Given the description of an element on the screen output the (x, y) to click on. 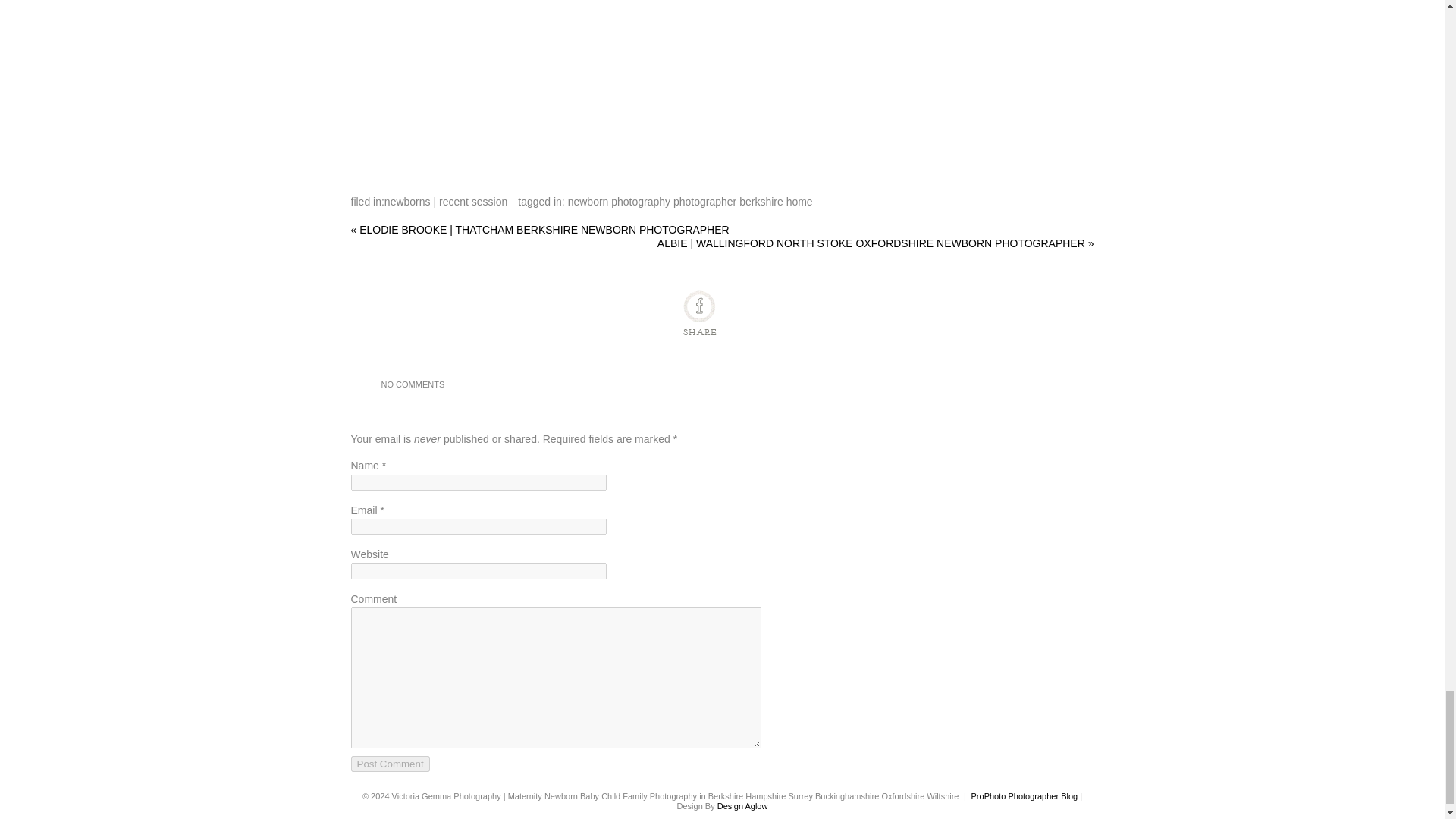
Post Comment (389, 763)
ProPhoto4 (1024, 795)
Design Aglow (742, 805)
recent session (472, 201)
NO COMMENTS (412, 384)
newborn photography photographer berkshire home (689, 201)
ProPhoto Photographer Blog (1024, 795)
Post Comment (389, 763)
newborns (407, 201)
